Given the description of an element on the screen output the (x, y) to click on. 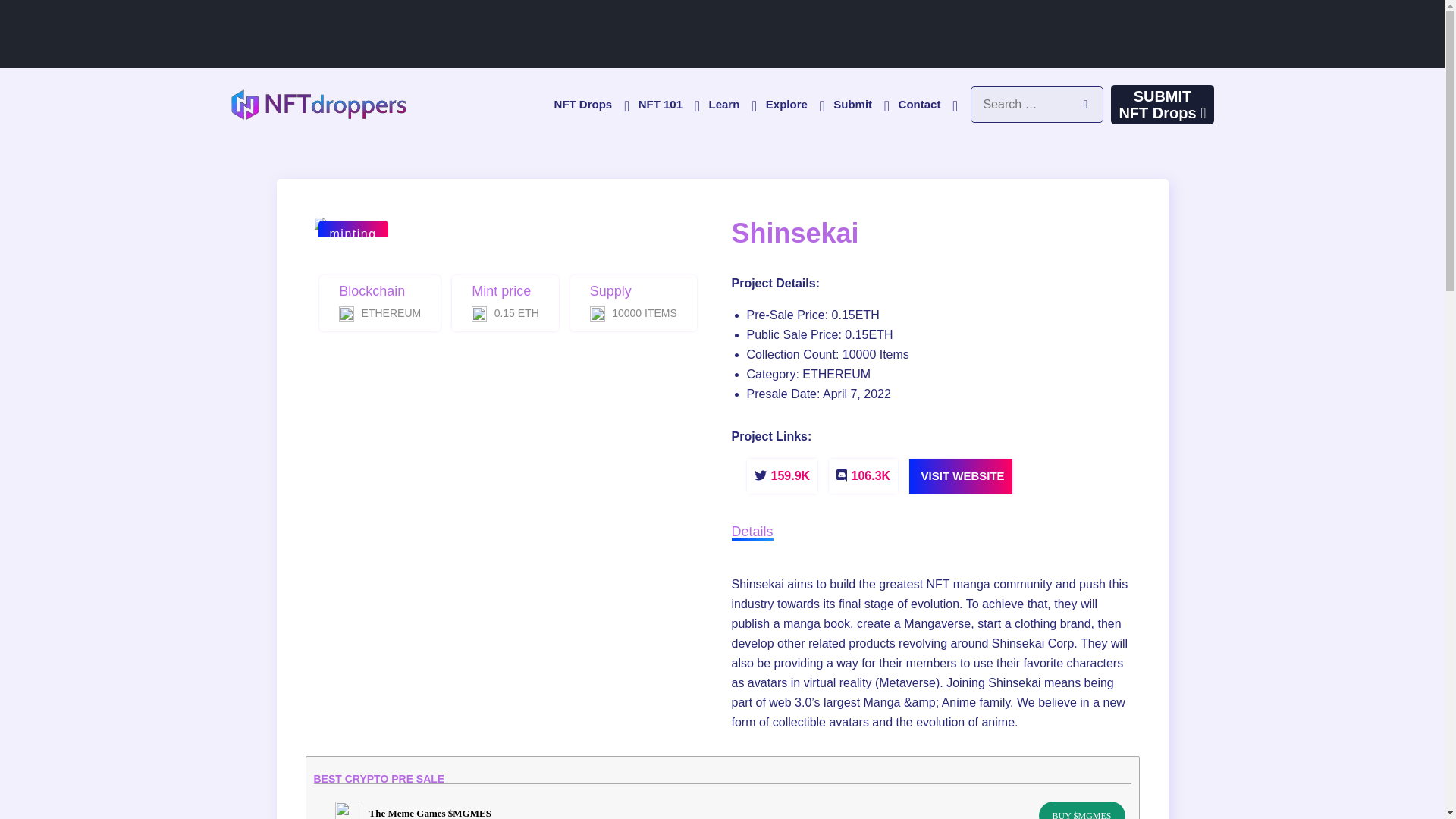
Learn (730, 103)
NFT 101 (668, 103)
NFT Drops (590, 103)
NFT 101 (668, 103)
NFT Drops (590, 103)
